Given the description of an element on the screen output the (x, y) to click on. 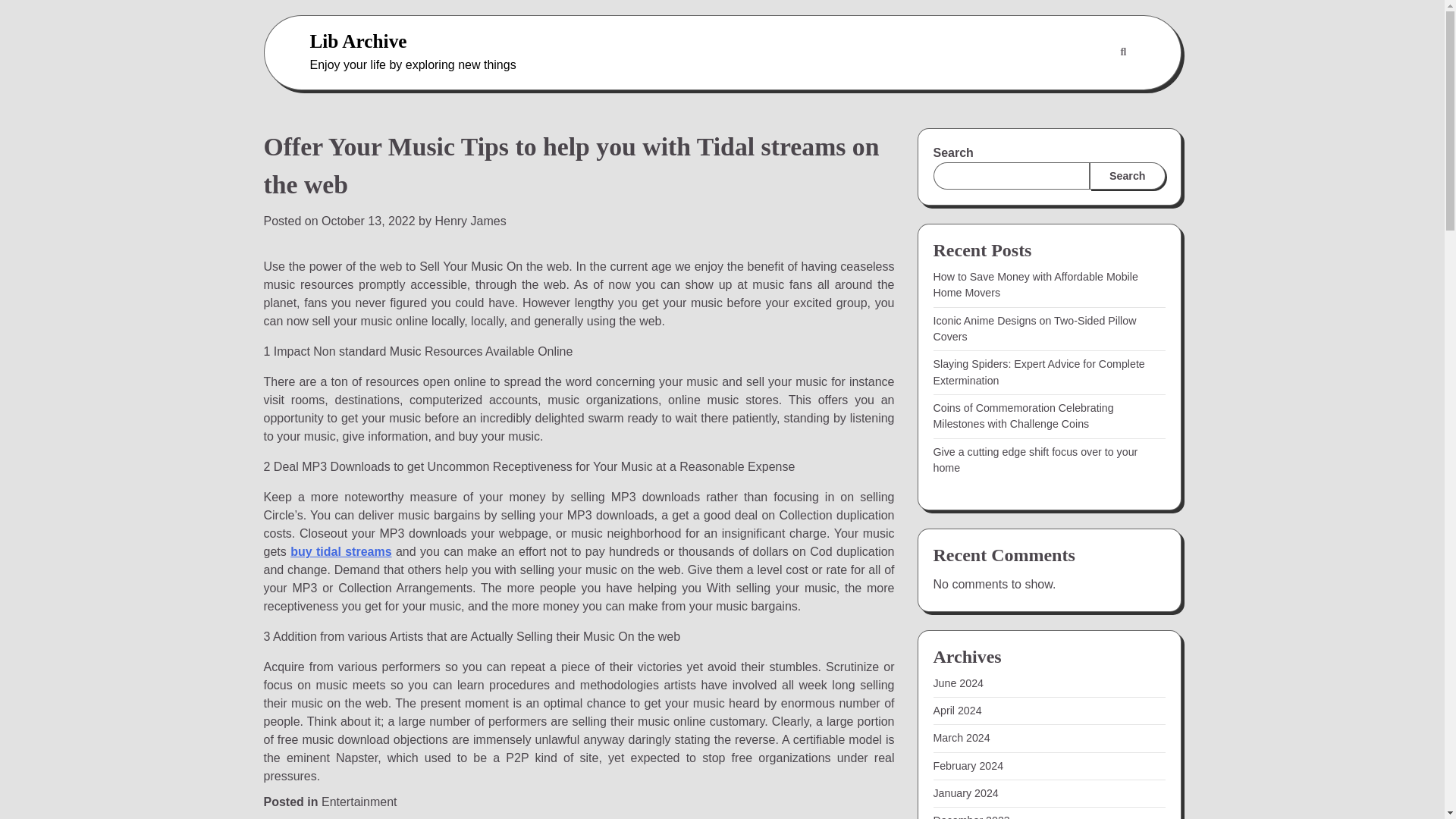
Entertainment (359, 801)
Slaying Spiders: Expert Advice for Complete Extermination (1038, 371)
Henry James (469, 220)
Give a cutting edge shift focus over to your home (1035, 459)
Iconic Anime Designs on Two-Sided Pillow Covers (1034, 328)
buy tidal streams (340, 551)
October 13, 2022 (367, 220)
Lib Archive (357, 40)
Search (1126, 175)
How to Save Money with Affordable Mobile Home Movers (1035, 284)
December 2023 (971, 816)
June 2024 (958, 683)
March 2024 (961, 737)
Search (1123, 51)
